Given the description of an element on the screen output the (x, y) to click on. 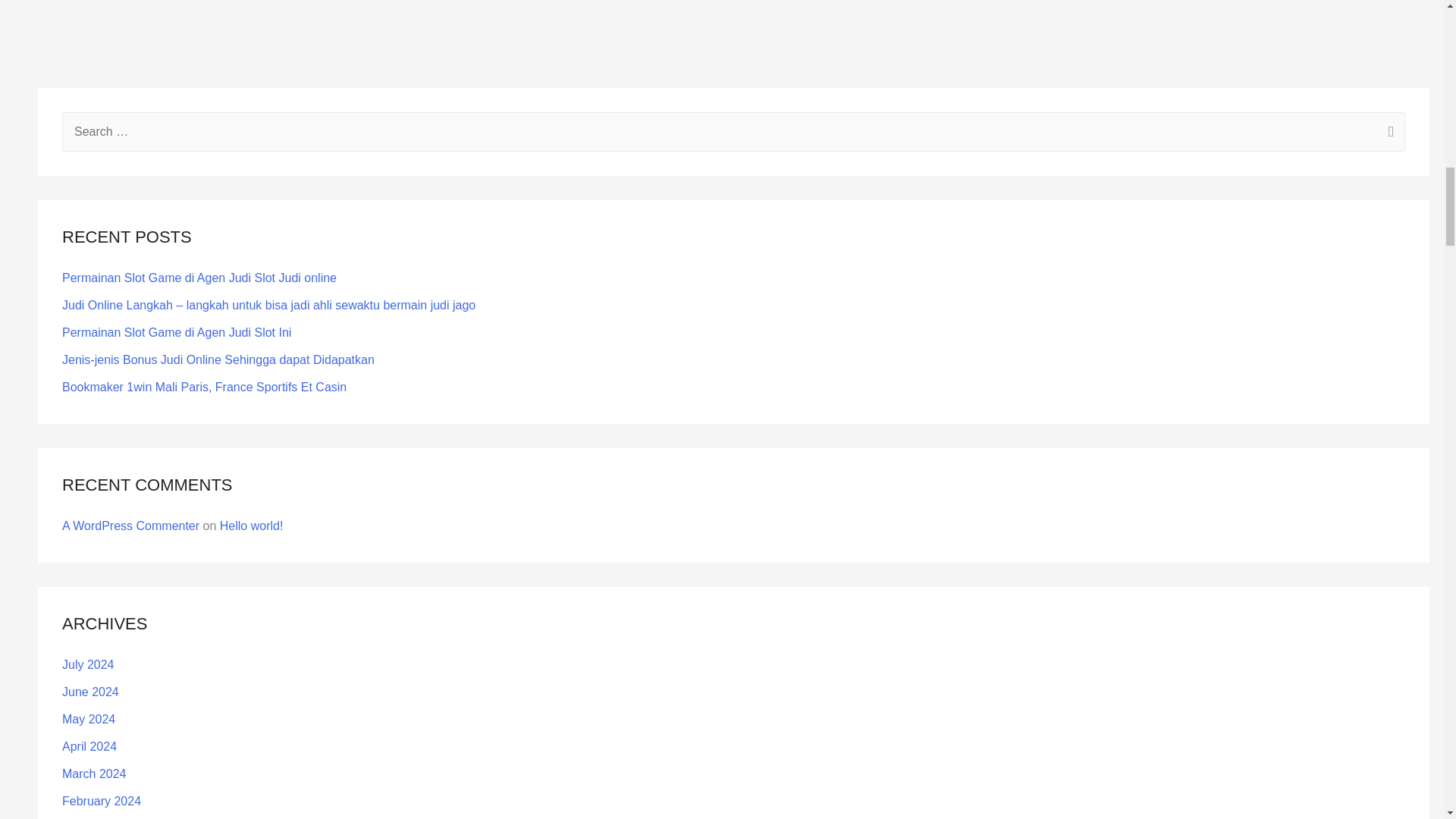
July 2024 (88, 664)
Bookmaker 1win Mali Paris, France Sportifs Et Casin (204, 386)
May 2024 (88, 718)
Hello world! (251, 525)
Permainan Slot Game di Agen Judi Slot Ini (176, 332)
April 2024 (89, 746)
Jenis-jenis Bonus Judi Online Sehingga dapat Didapatkan (218, 359)
A WordPress Commenter (130, 525)
Permainan Slot Game di Agen Judi Slot Judi online (199, 277)
February 2024 (101, 800)
